Given the description of an element on the screen output the (x, y) to click on. 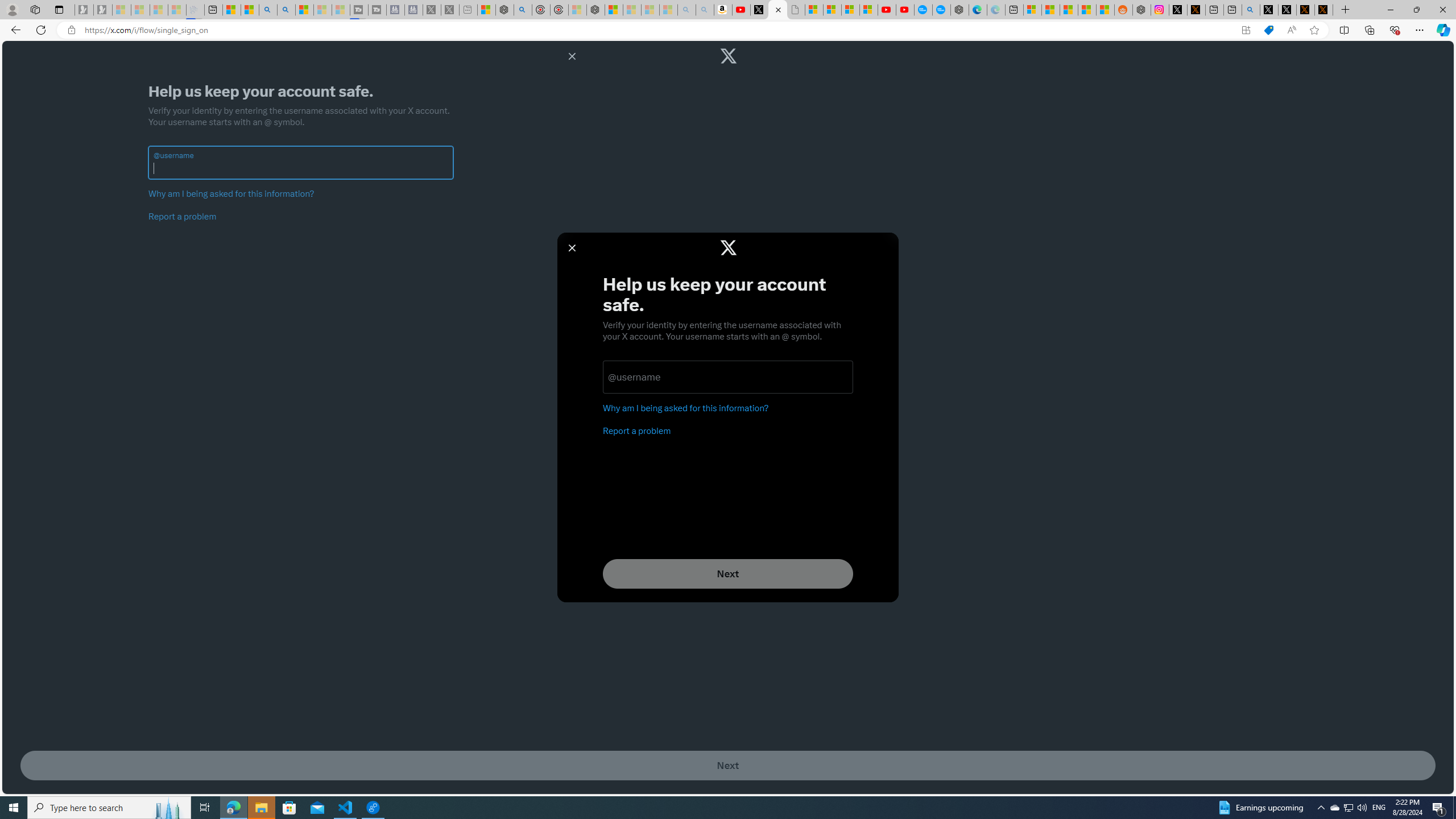
Profile / X (1268, 9)
github - Search (1251, 9)
Report a problem (182, 216)
help.x.com | 524: A timeout occurred (1195, 9)
GitHub (@github) / X (1287, 9)
Nordace - Nordace Siena Is Not An Ordinary Backpack (596, 9)
